Given the description of an element on the screen output the (x, y) to click on. 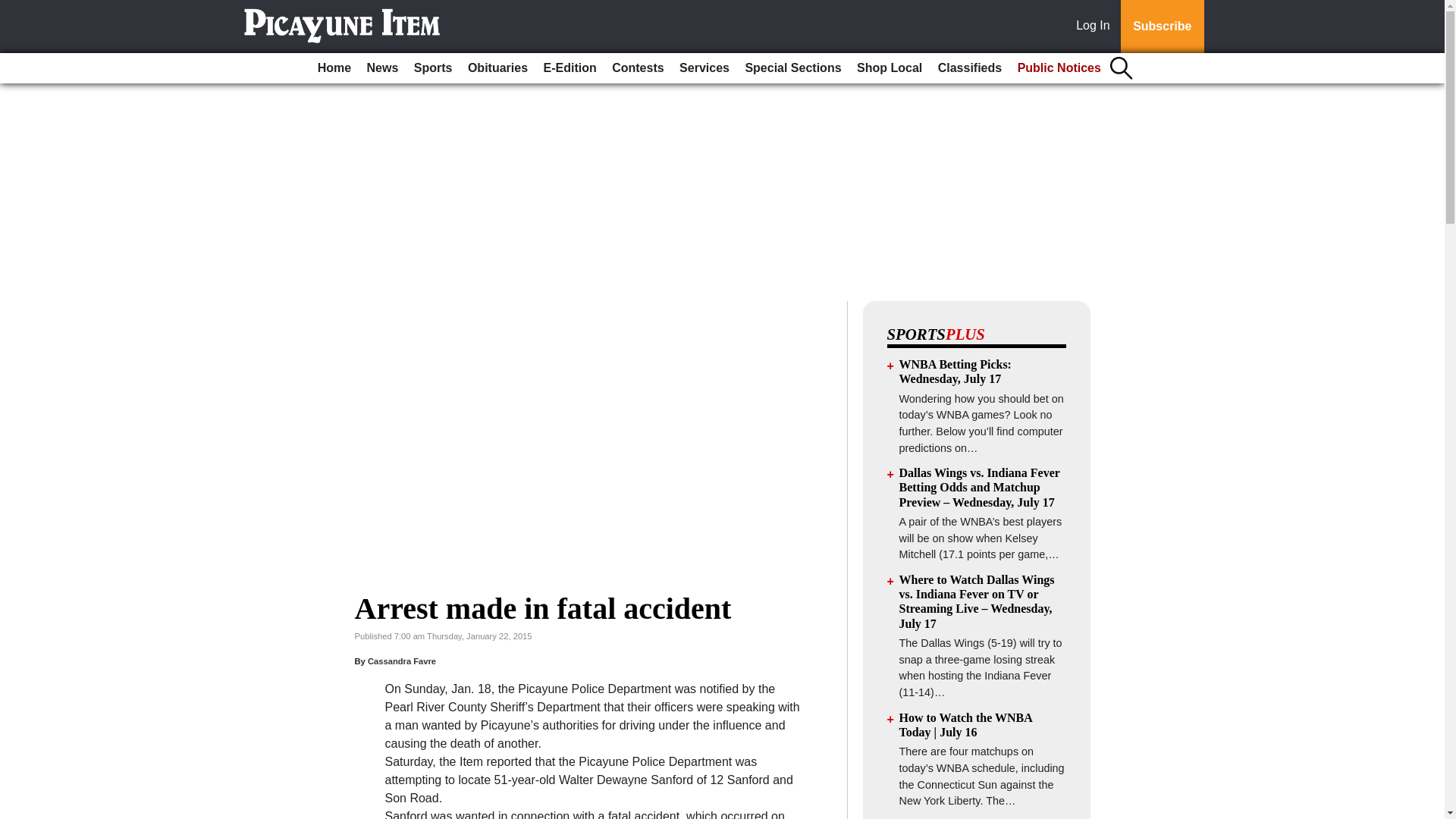
Go (13, 9)
Home (333, 68)
E-Edition (569, 68)
Special Sections (792, 68)
Log In (1095, 26)
Classifieds (969, 68)
Shop Local (889, 68)
Subscribe (1162, 26)
Obituaries (497, 68)
Cassandra Favre (401, 660)
News (382, 68)
Contests (637, 68)
Sports (432, 68)
Services (703, 68)
Public Notices (1058, 68)
